Given the description of an element on the screen output the (x, y) to click on. 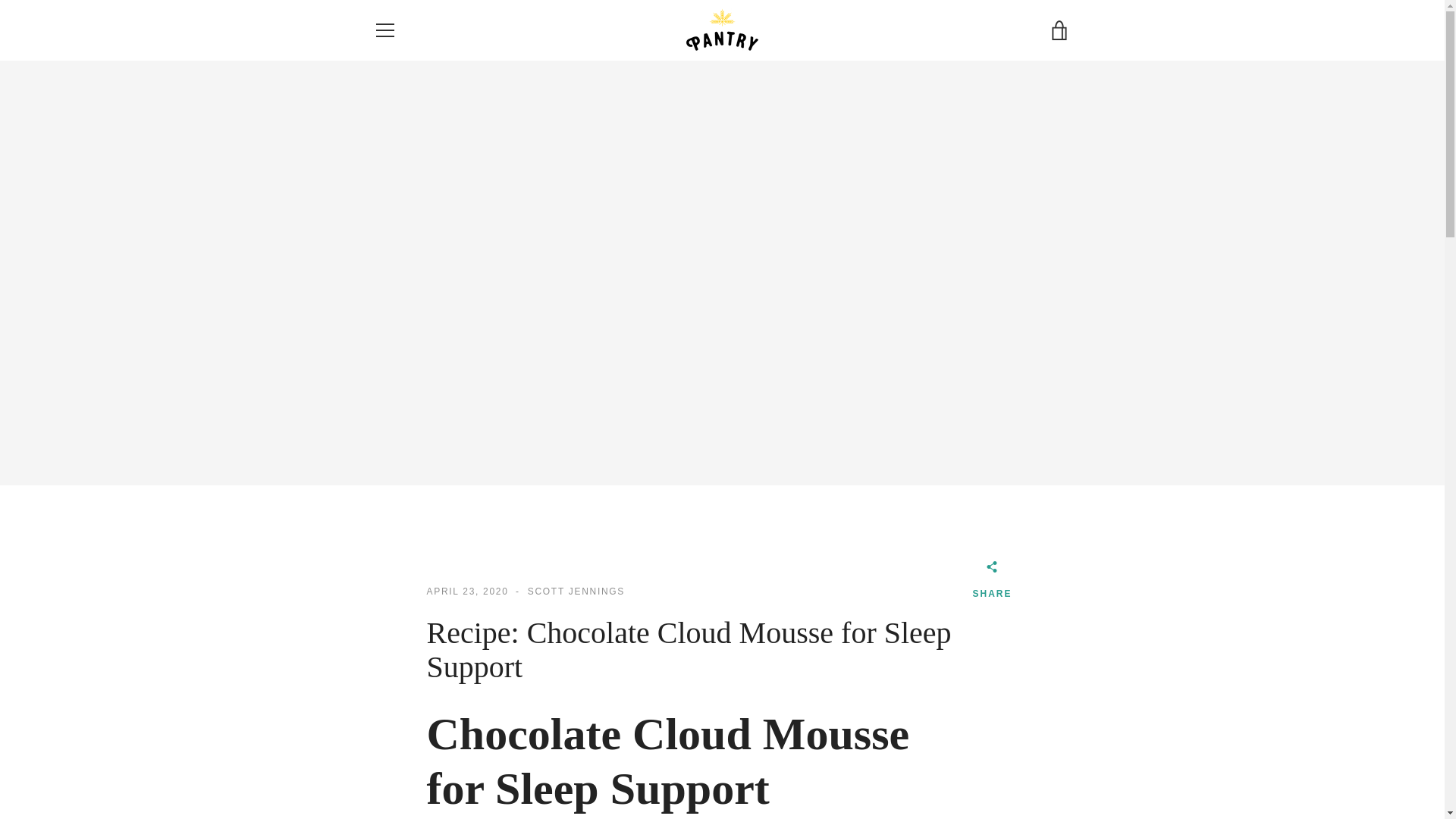
MENU (384, 30)
VIEW CART (1059, 30)
SHARE (991, 582)
